Given the description of an element on the screen output the (x, y) to click on. 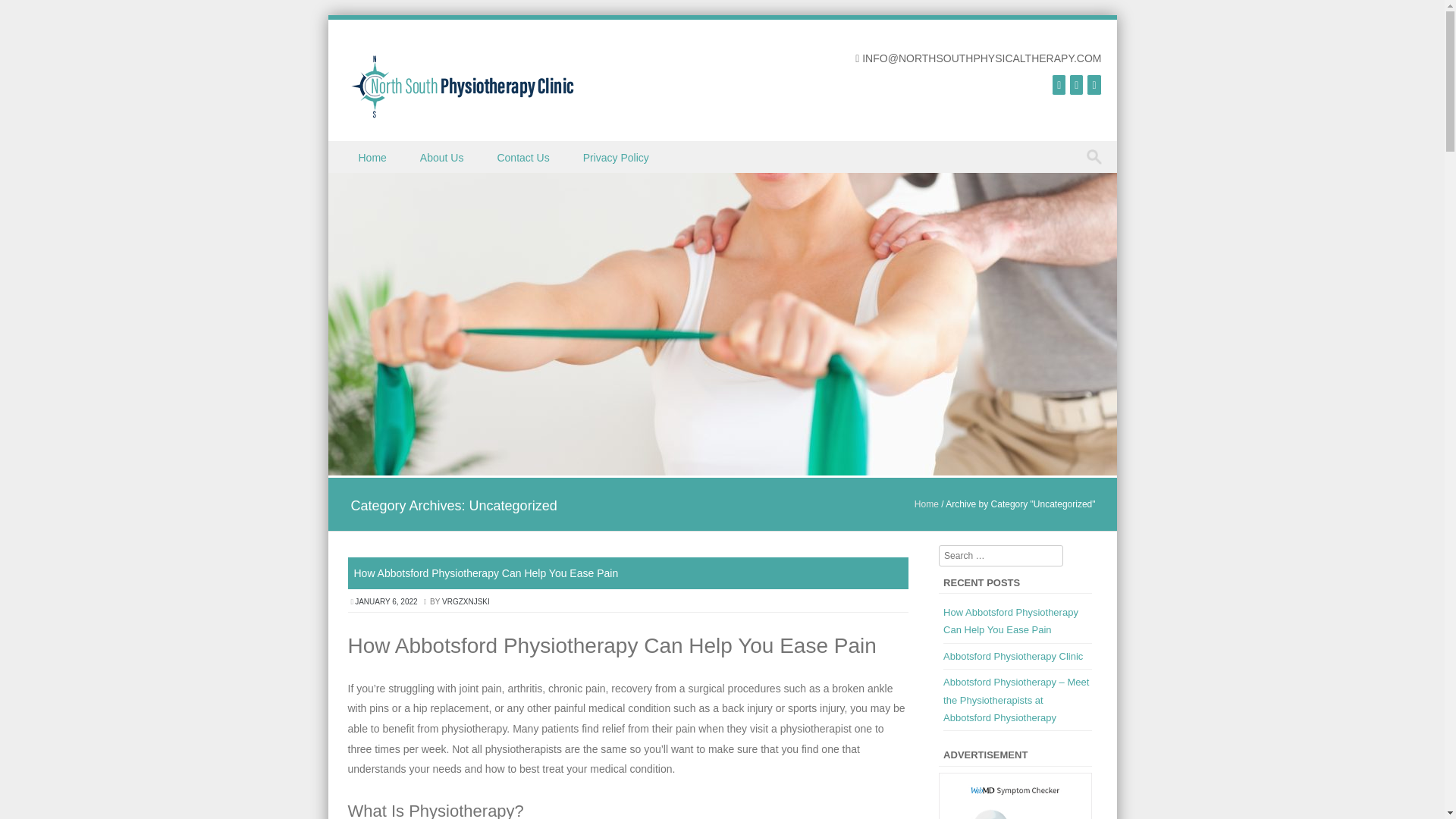
Search (26, 14)
Menu (353, 173)
Home (926, 503)
Search for: (1097, 156)
View all posts by vRGZxnjSKI (465, 601)
Skip to content (362, 150)
JANUARY 6, 2022 (386, 601)
How Abbotsford Physiotherapy Can Help You Ease Pain (1010, 620)
Privacy Policy (616, 156)
Abbotsford Physiotherapy Clinic (1013, 655)
Navigation Toggle (353, 173)
North South Physiotherapy Clinic (721, 467)
About Us (442, 156)
VRGZXNJSKI (465, 601)
6:42 pm (386, 601)
